Given the description of an element on the screen output the (x, y) to click on. 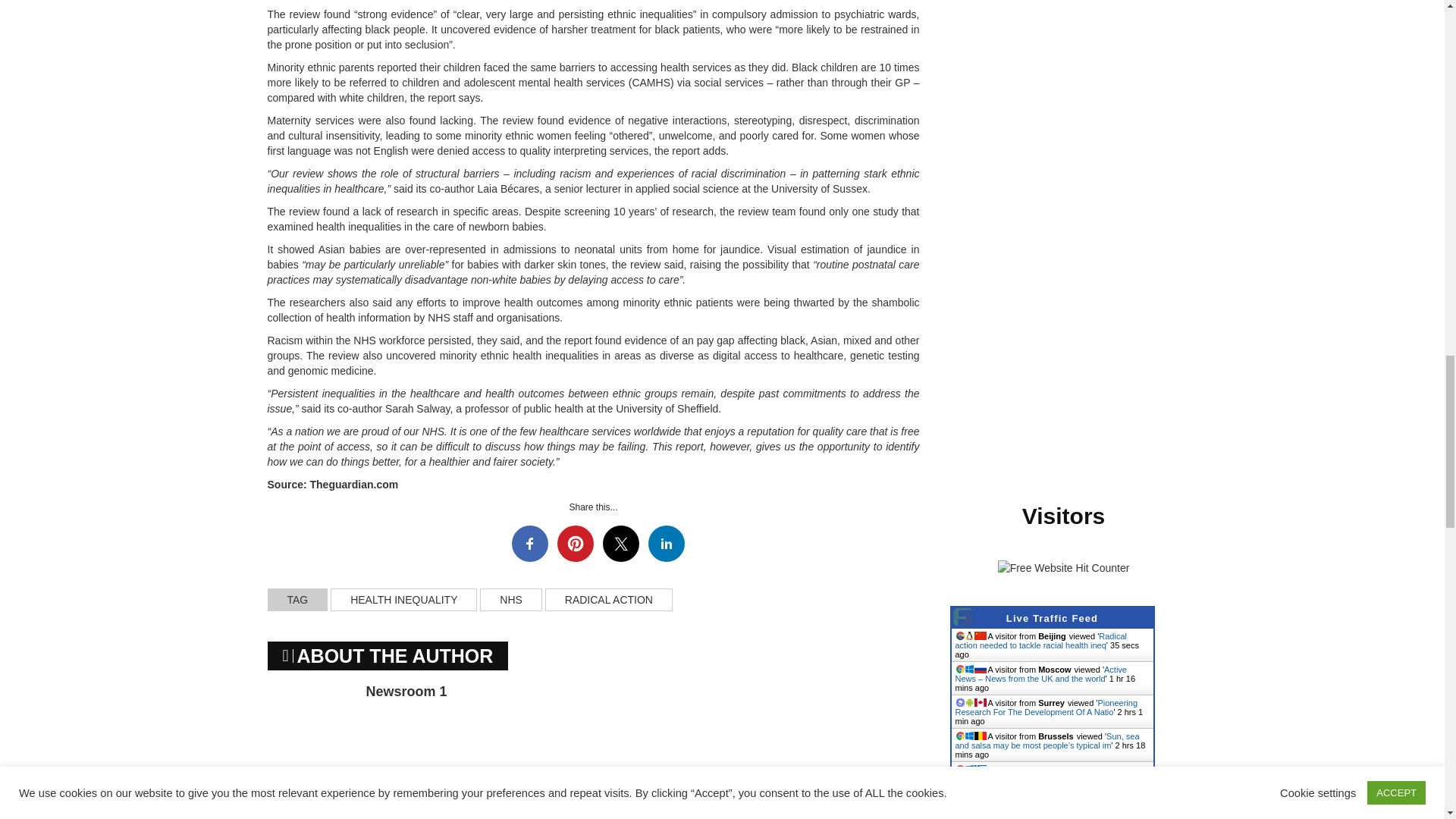
Posts by Newsroom 1 (405, 691)
Headless Chrome (959, 635)
China (979, 635)
Windows (967, 669)
GNU Linux (967, 635)
Chrome (959, 669)
